Given the description of an element on the screen output the (x, y) to click on. 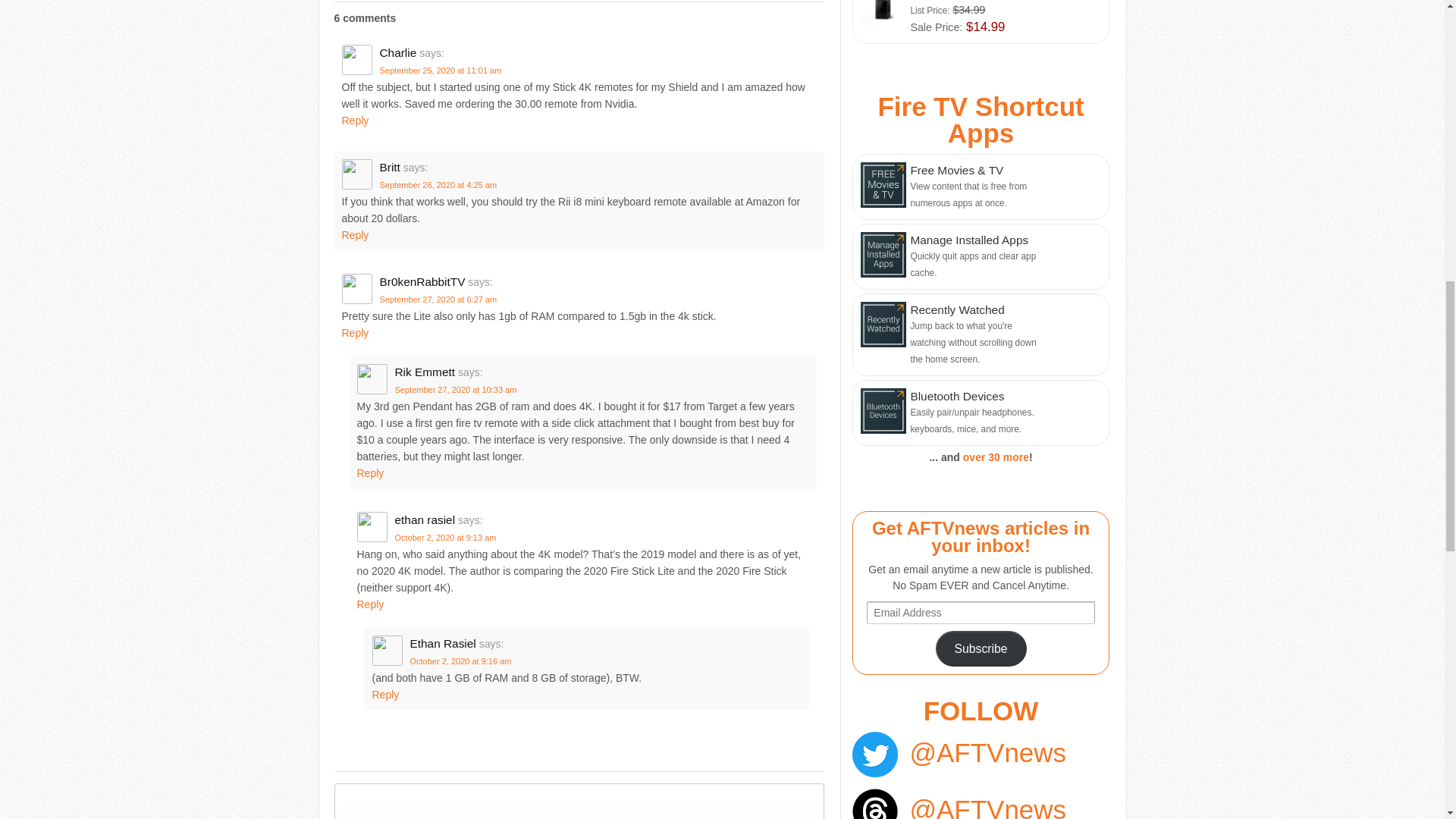
September 27, 2020 at 6:27 am (437, 298)
Reply (354, 234)
Reply (354, 120)
September 26, 2020 at 4:25 am (437, 184)
September 25, 2020 at 11:01 am (439, 70)
